Given the description of an element on the screen output the (x, y) to click on. 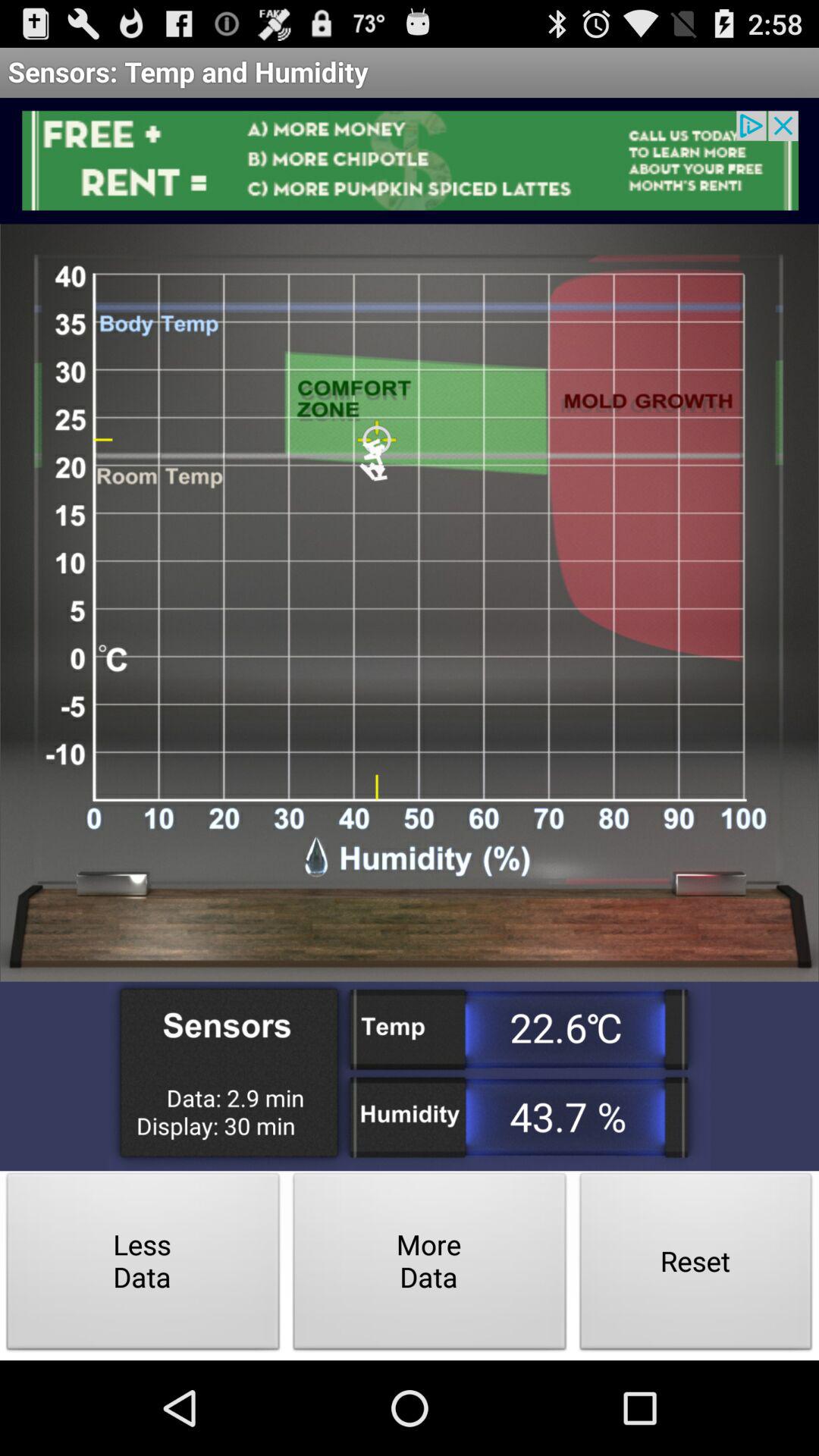
select icon next to more
data (143, 1265)
